Given the description of an element on the screen output the (x, y) to click on. 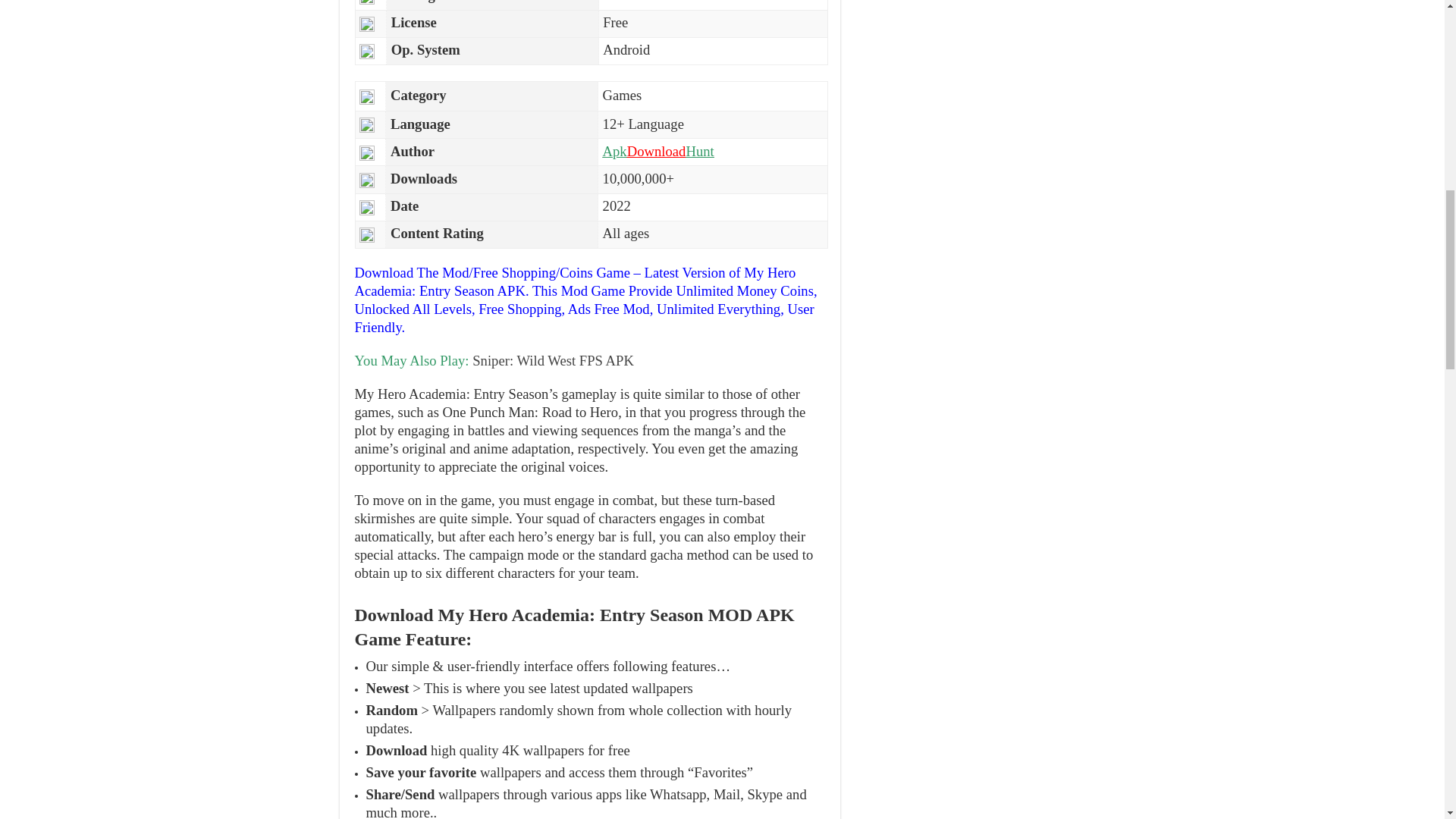
Sniper: Wild West FPS APK (552, 360)
Scroll To Top (1421, 60)
ApkDownloadHunt (658, 150)
